Given the description of an element on the screen output the (x, y) to click on. 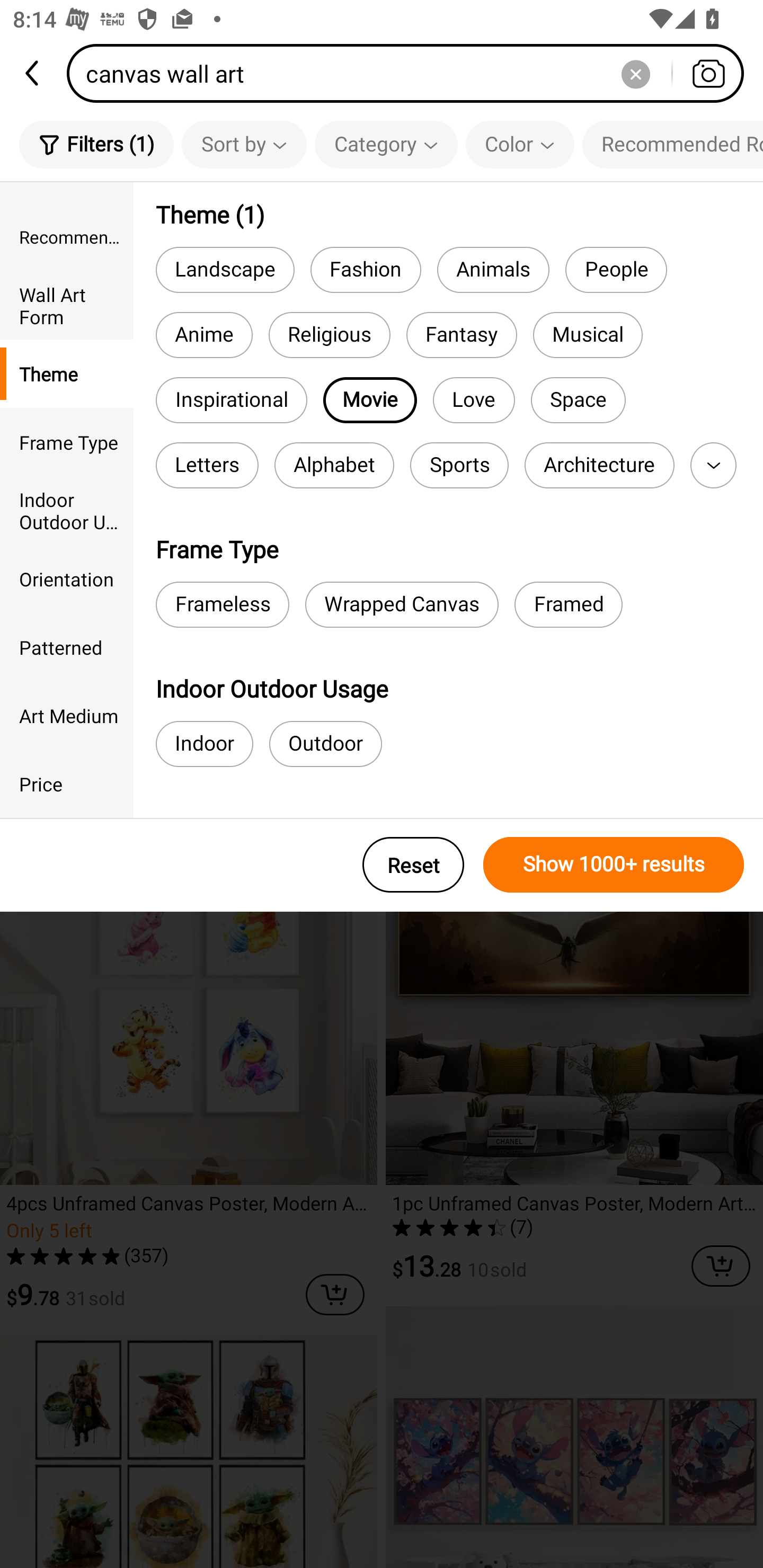
back (33, 72)
canvas wall art (411, 73)
Delete search history (635, 73)
Search by photo (708, 73)
Filters (1) (96, 143)
Sort by (243, 143)
Category (385, 143)
Color (519, 143)
Recommended Room (672, 143)
Recommended Room (66, 236)
Landscape (224, 269)
Fashion (365, 269)
Animals (493, 269)
People (615, 269)
Wall Art Form (66, 305)
Anime (203, 334)
Religious (329, 334)
Fantasy (461, 334)
Musical (587, 334)
Theme (66, 373)
Inspirational (231, 400)
Movie (370, 400)
Love (473, 400)
Space (578, 400)
Frame Type (66, 441)
Letters (206, 464)
Alphabet (334, 464)
Sports (459, 464)
Architecture (599, 464)
More (713, 464)
Indoor Outdoor Usage (66, 510)
Orientation (66, 578)
Frameless (222, 604)
Wrapped Canvas (401, 604)
Framed (568, 604)
Patterned (66, 646)
Art Medium (66, 714)
Indoor (204, 743)
Outdoor (325, 743)
Price (66, 783)
Reset (412, 864)
Show 1000+ results (612, 864)
